Given the description of an element on the screen output the (x, y) to click on. 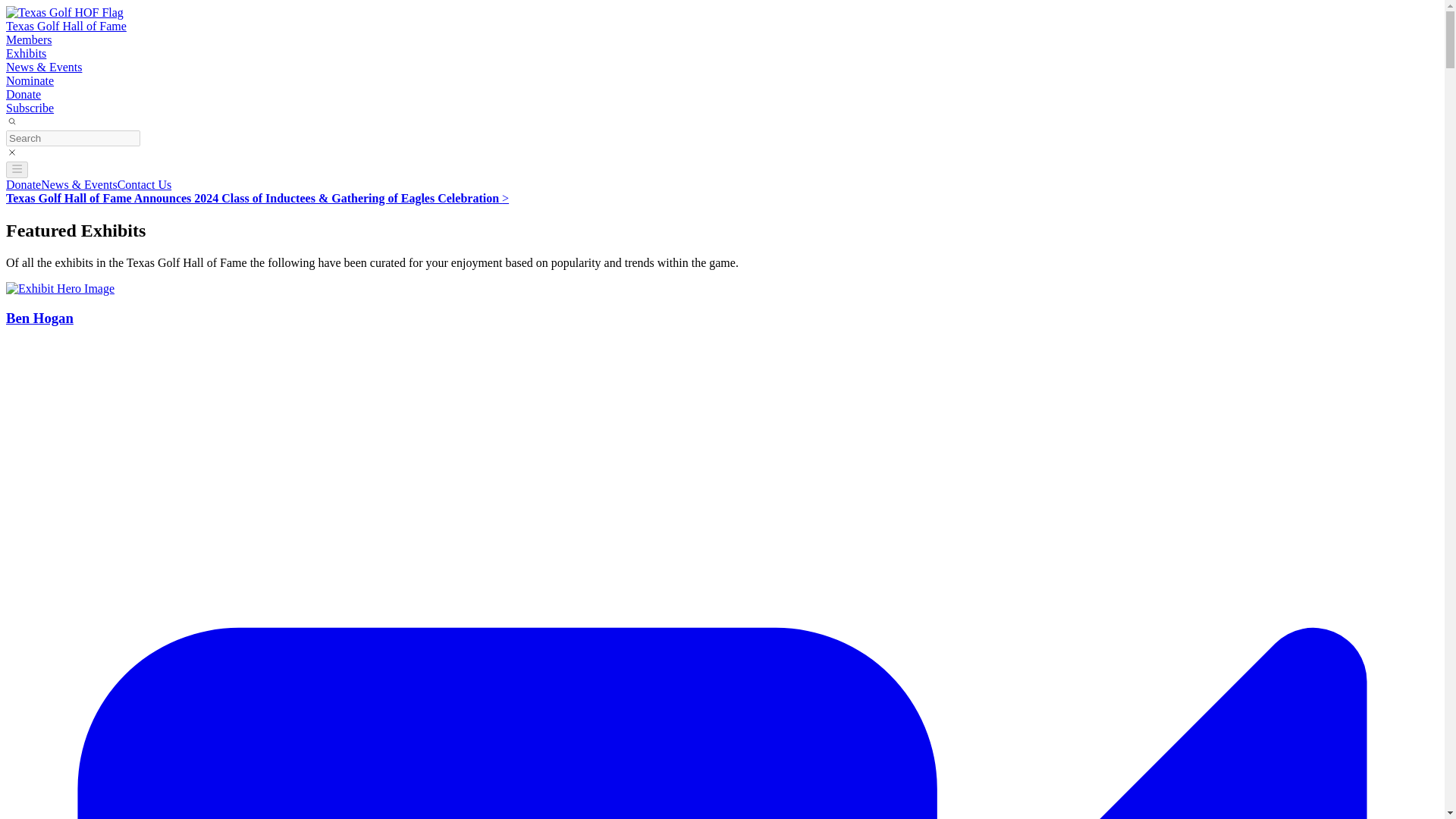
Nominate (29, 80)
Contact Us (144, 184)
Subscribe (29, 107)
Donate (22, 93)
Donate (22, 184)
Exhibits (25, 52)
Members (27, 39)
